Given the description of an element on the screen output the (x, y) to click on. 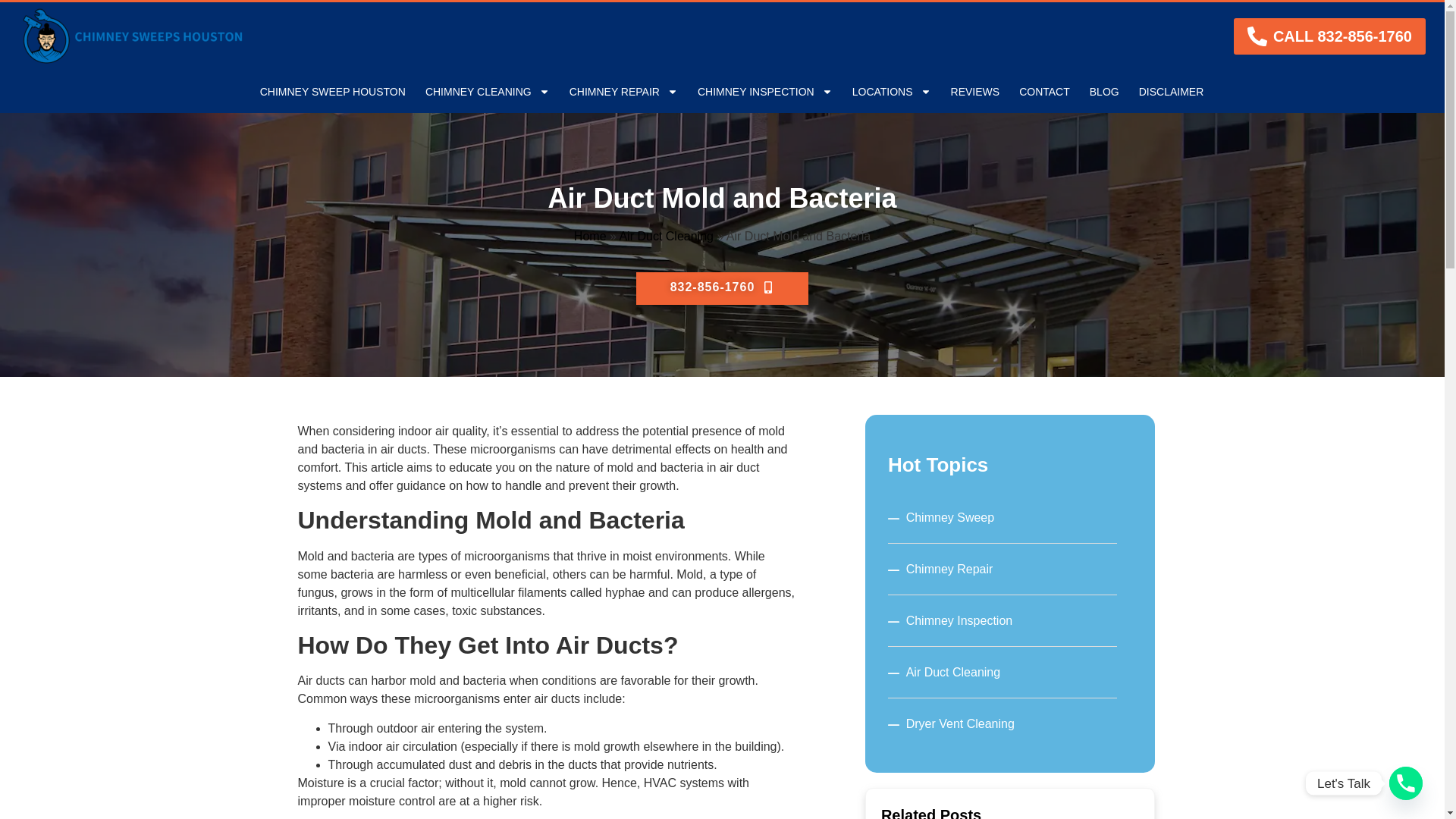
REVIEWS (975, 91)
CHIMNEY CLEANING (486, 91)
CHIMNEY SWEEP HOUSTON (332, 91)
LOCATIONS (891, 91)
CHIMNEY REPAIR (623, 91)
BLOG (1104, 91)
DISCLAIMER (1171, 91)
CHIMNEY INSPECTION (765, 91)
CONTACT (1044, 91)
